Given the description of an element on the screen output the (x, y) to click on. 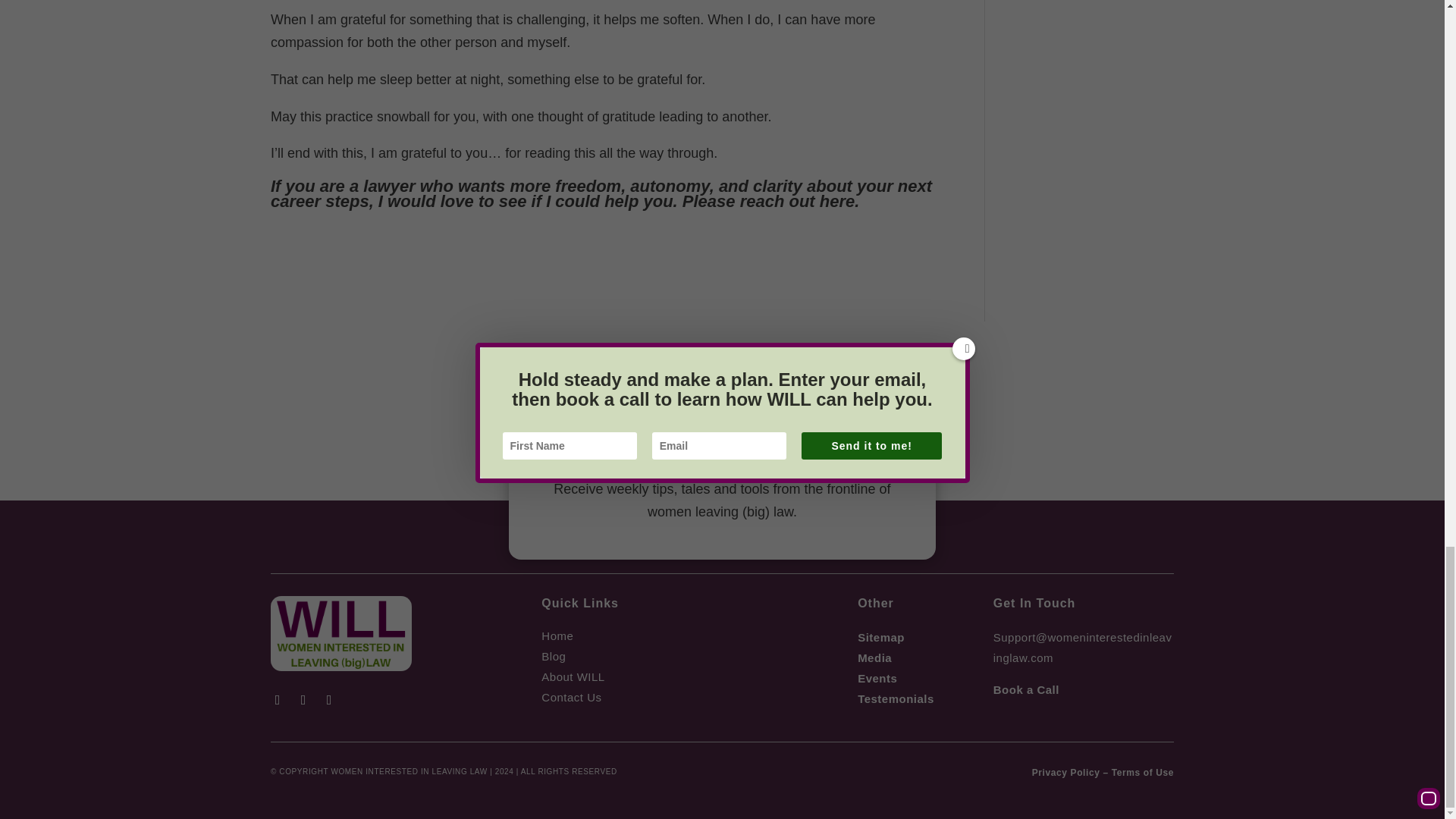
WILL logo (341, 633)
Book a Call (1025, 689)
Follow on LinkedIn (303, 699)
Testemonials (895, 698)
Blog (553, 656)
here (836, 200)
Media (874, 657)
Events (876, 677)
Follow on Facebook (277, 699)
Contact Us (571, 697)
Home (557, 635)
Follow on Instagram (328, 699)
About WILL (572, 676)
